Given the description of an element on the screen output the (x, y) to click on. 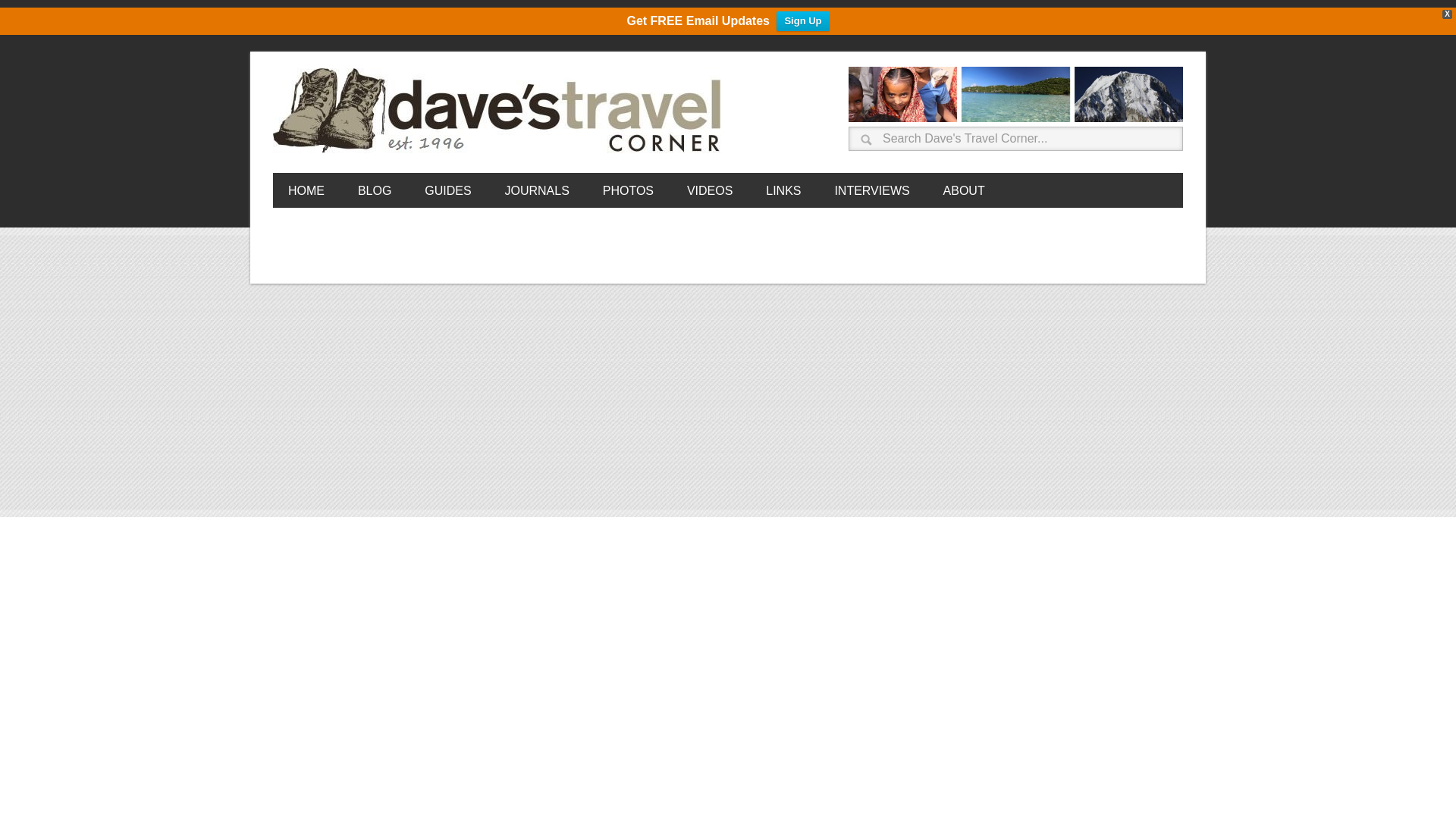
LINKS (783, 190)
HOME (306, 190)
ABOUT (964, 190)
VIDEOS (709, 190)
PHOTOS (628, 190)
BLOG (374, 190)
JOURNALS (536, 190)
Sign Up (802, 21)
